Given the description of an element on the screen output the (x, y) to click on. 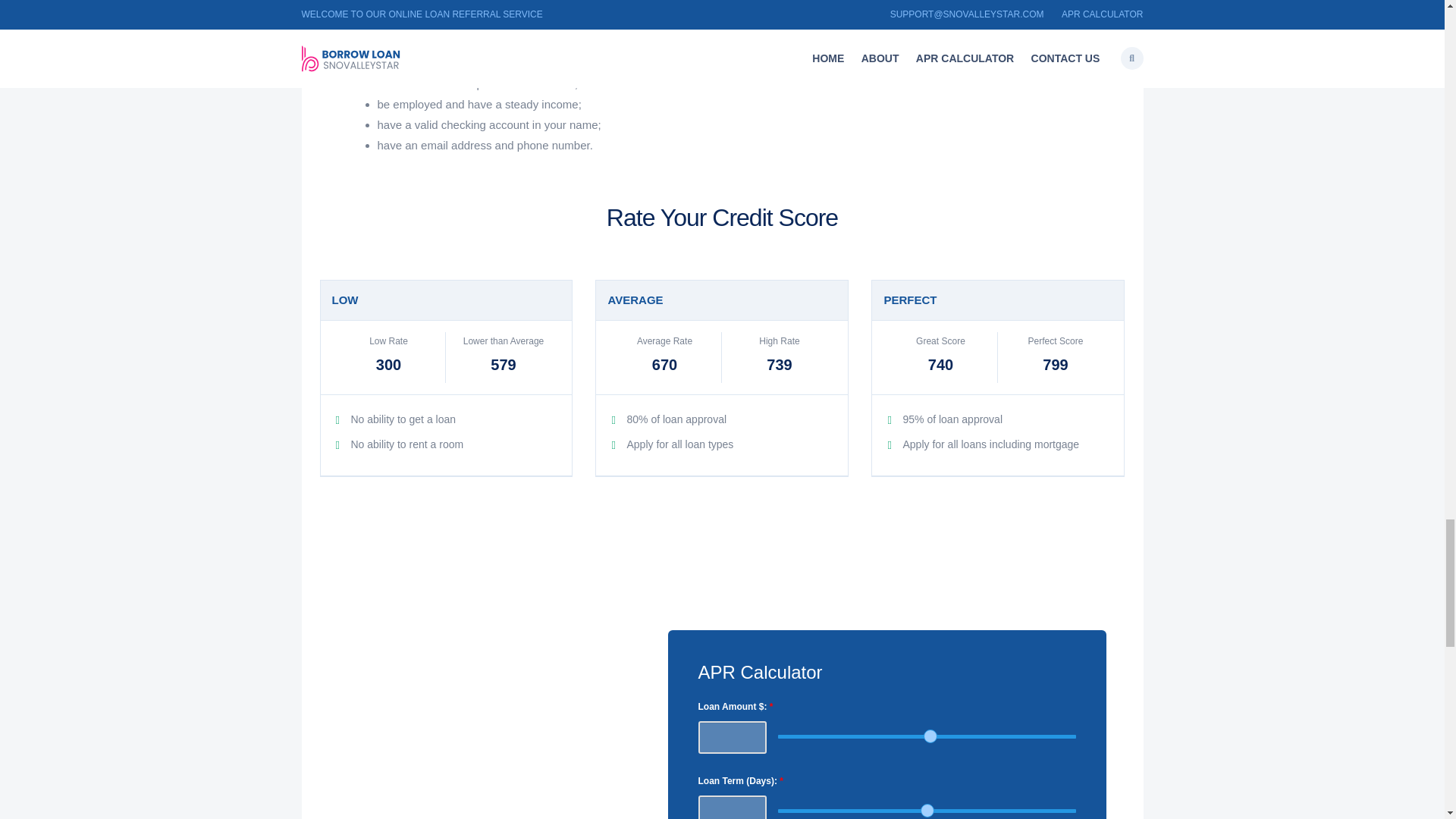
16 (926, 810)
2600 (926, 736)
